Given the description of an element on the screen output the (x, y) to click on. 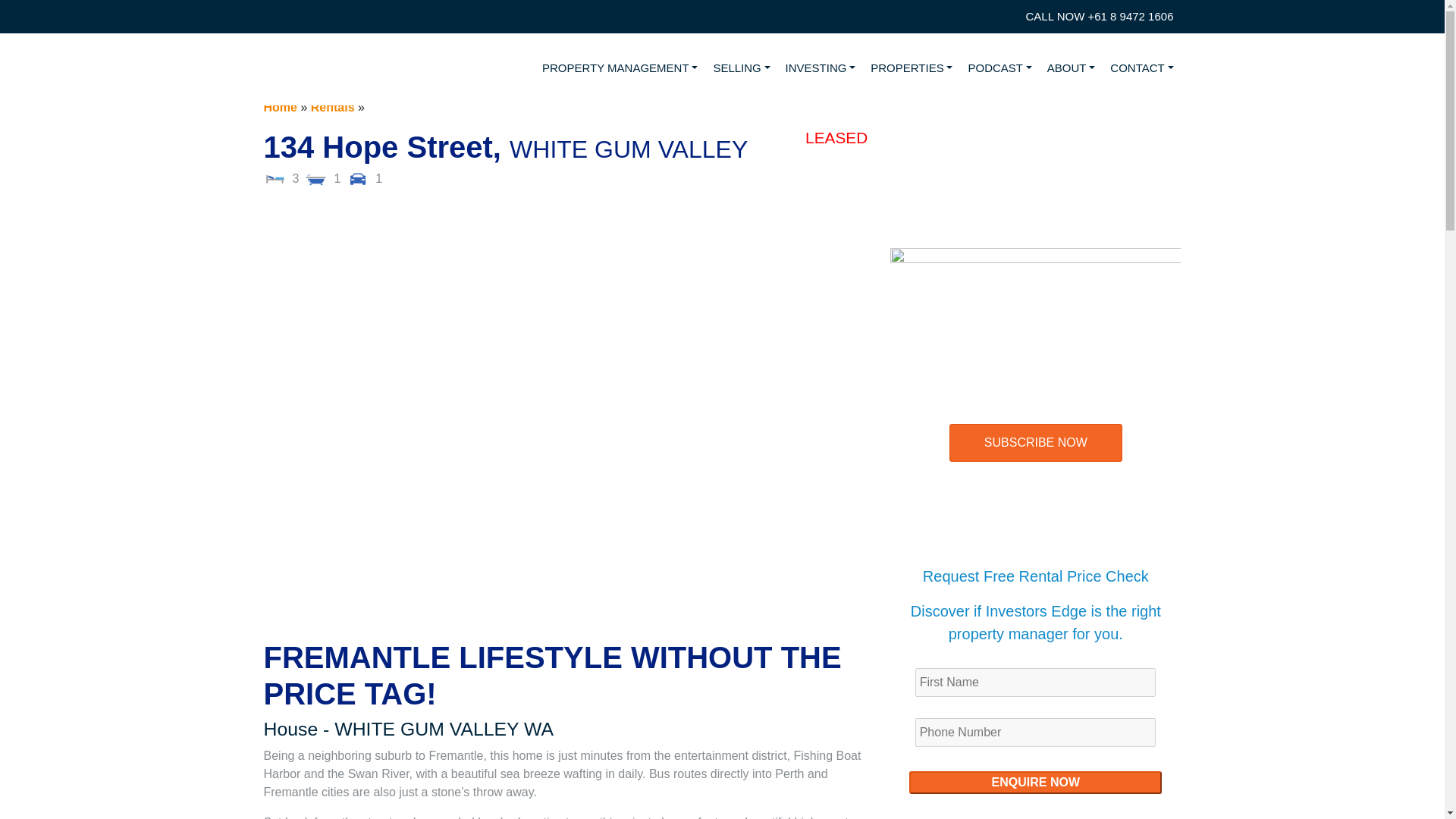
ABOUT (1071, 67)
Enquire Now (1034, 782)
INVESTING (820, 67)
PROPERTIES (911, 67)
SELLING (740, 67)
PROPERTY MANAGEMENT (619, 67)
Property Management (619, 67)
PODCAST (999, 67)
Selling (740, 67)
